Given the description of an element on the screen output the (x, y) to click on. 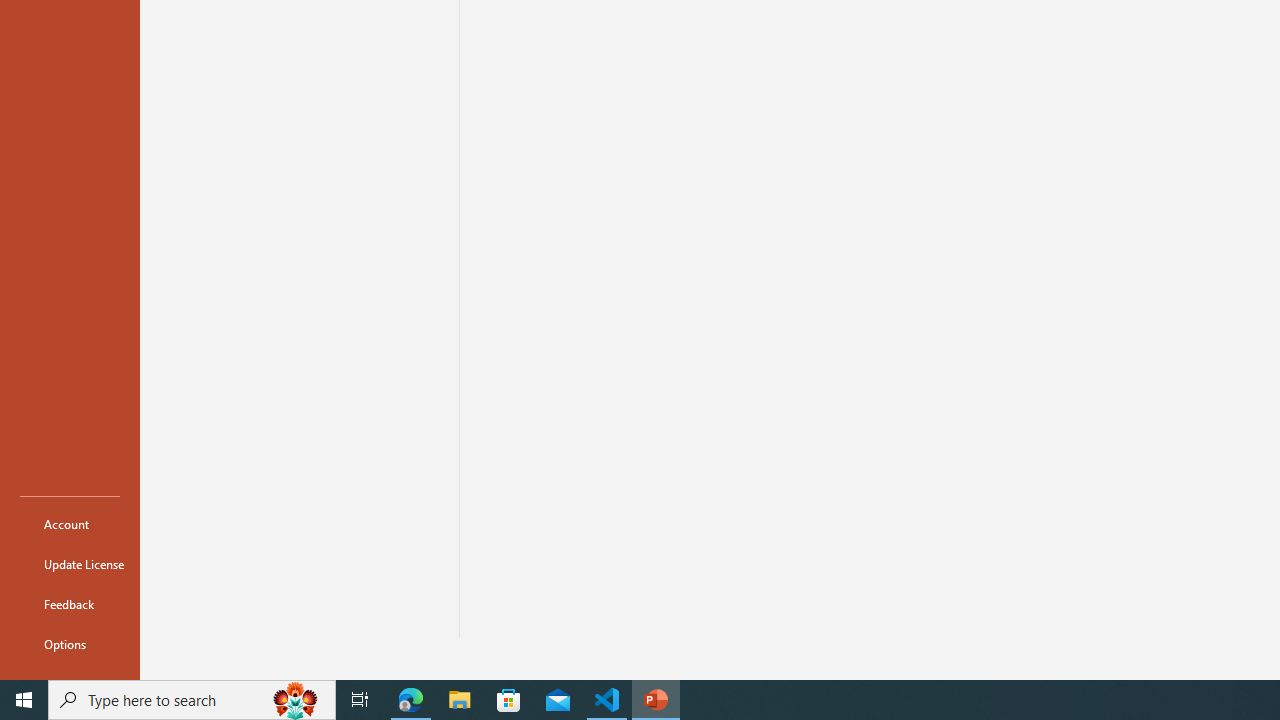
Update License (69, 563)
Options (69, 643)
Feedback (69, 603)
Account (69, 523)
